Given the description of an element on the screen output the (x, y) to click on. 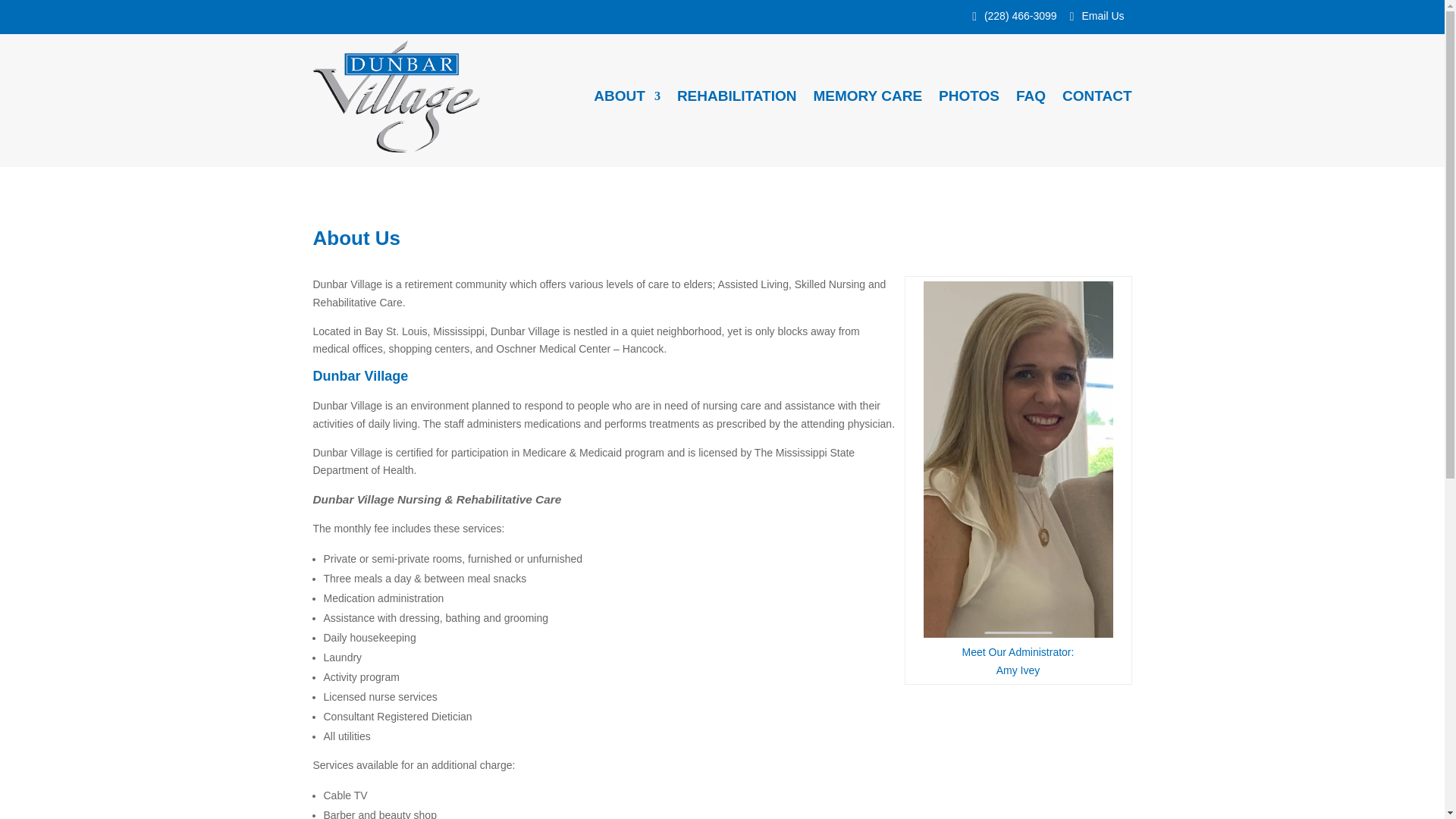
MEMORY CARE (866, 96)
Email Us (1100, 15)
REHABILITATION (736, 96)
